Given the description of an element on the screen output the (x, y) to click on. 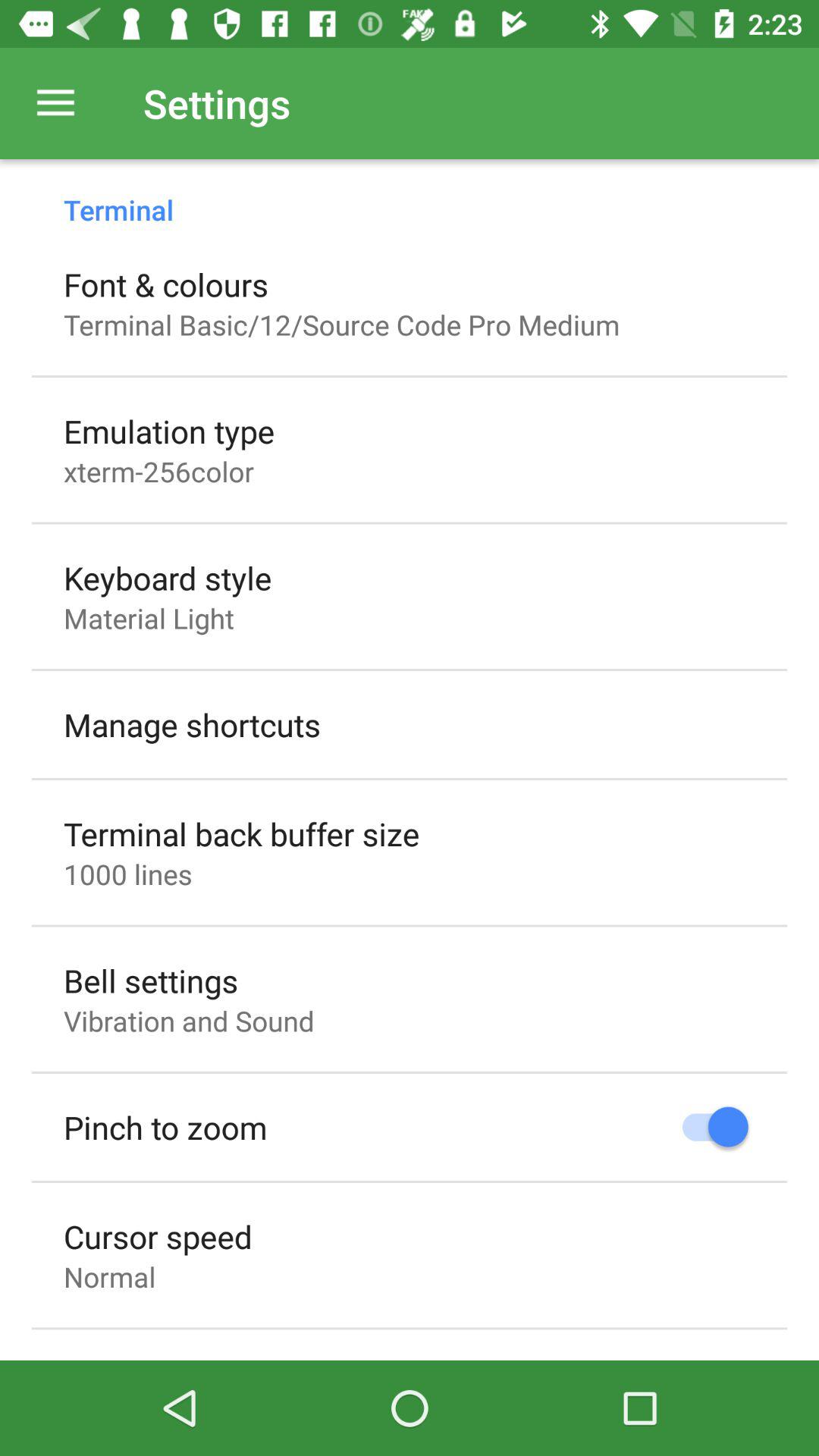
turn off the item above material light (167, 577)
